Given the description of an element on the screen output the (x, y) to click on. 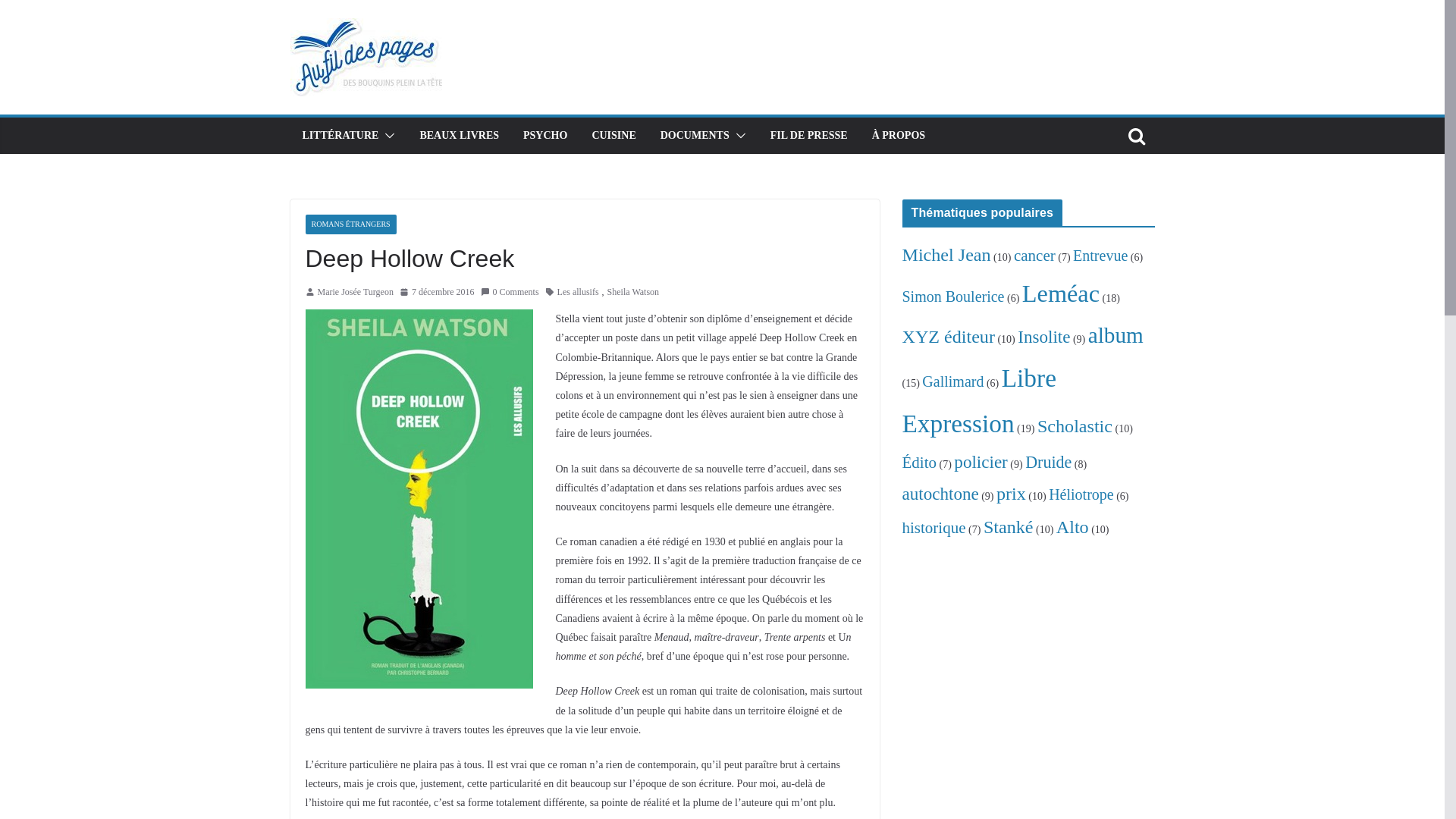
Gallimard Element type: text (952, 381)
Scholastic Element type: text (1074, 426)
policier Element type: text (980, 461)
album Element type: text (1115, 335)
FIL DE PRESSE Element type: text (808, 135)
Sheila Watson Element type: text (632, 292)
cancer Element type: text (1034, 255)
Simon Boulerice Element type: text (953, 296)
Alto Element type: text (1072, 526)
autochtone Element type: text (940, 493)
BEAUX LIVRES Element type: text (458, 135)
Insolite Element type: text (1043, 336)
Les allusifs Element type: text (578, 292)
Entrevue Element type: text (1100, 255)
Libre Expression Element type: text (979, 400)
0 Comments Element type: text (509, 292)
prix Element type: text (1011, 493)
Michel Jean Element type: text (946, 254)
Druide Element type: text (1048, 461)
DOCUMENTS Element type: text (694, 135)
CUISINE Element type: text (613, 135)
PSYCHO Element type: text (545, 135)
historique Element type: text (934, 527)
